Given the description of an element on the screen output the (x, y) to click on. 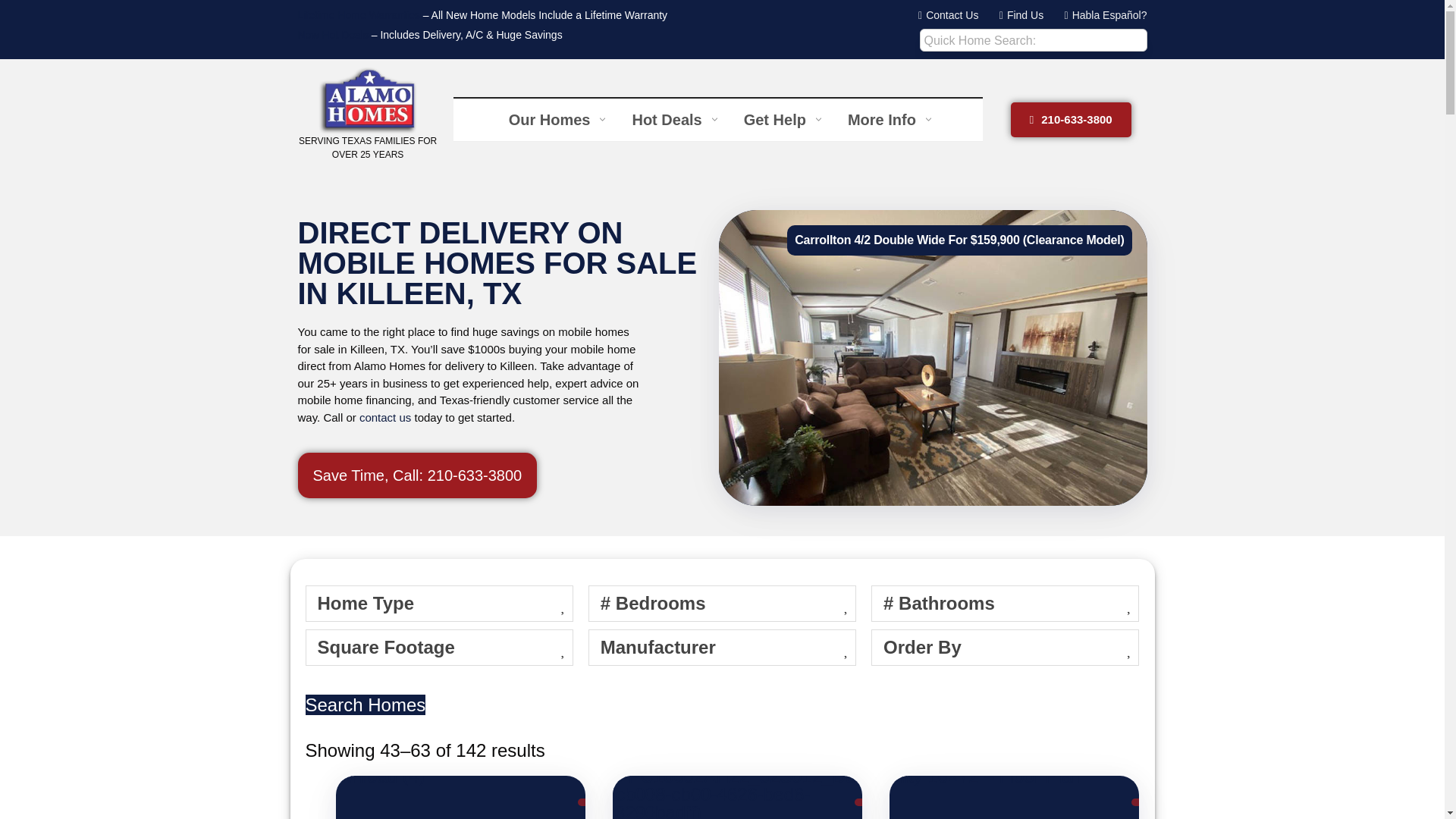
More Info (717, 119)
Contact Us (887, 119)
Get Help (943, 15)
Hot Deals (780, 119)
Save Time, Call: 210-633-3800 (671, 119)
Find Us (417, 474)
Search Homes (1016, 15)
210-633-3800 (364, 704)
Search (1070, 119)
